Given the description of an element on the screen output the (x, y) to click on. 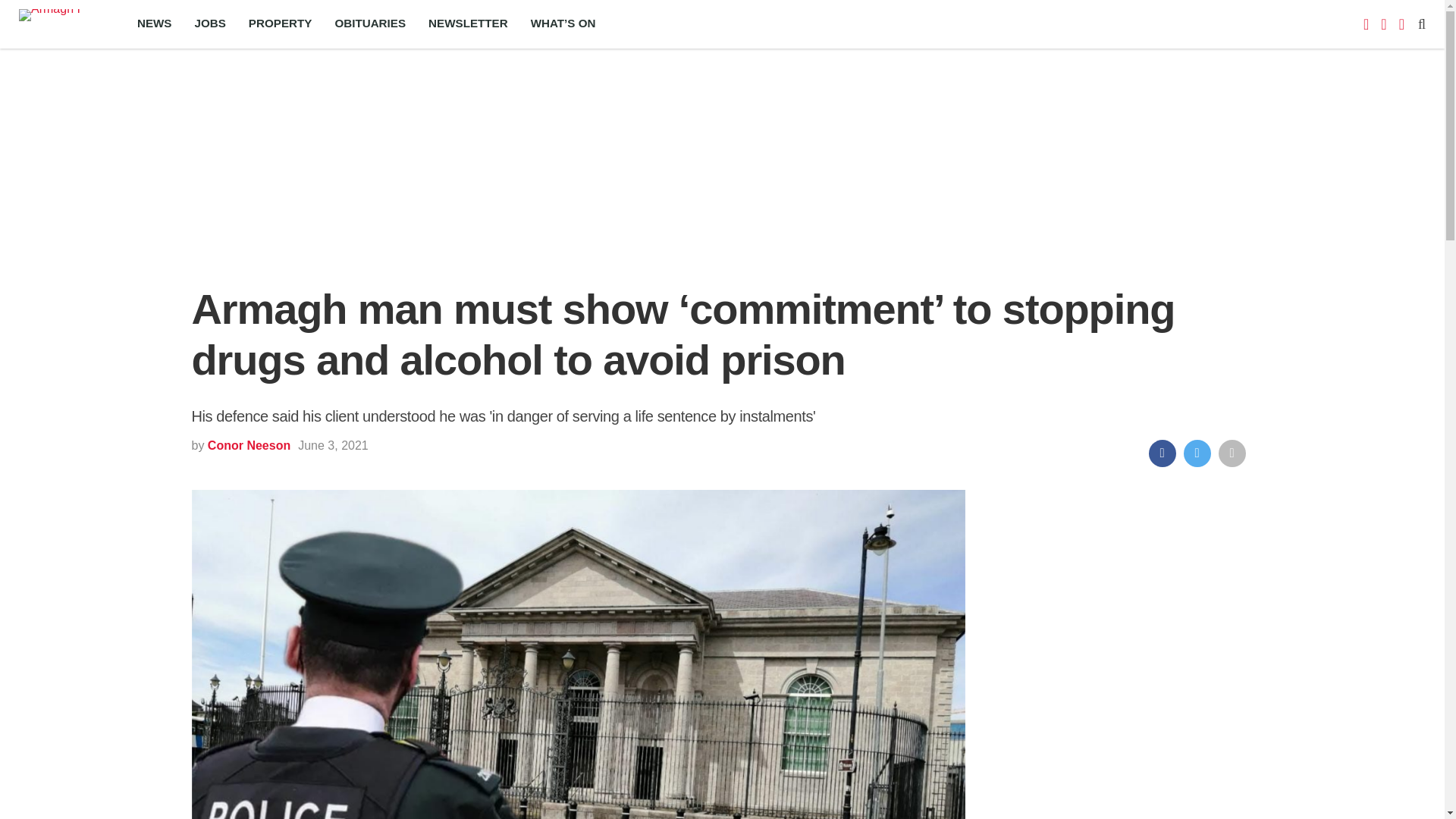
NEWS (154, 24)
Posts by Conor Neeson (248, 445)
